Given the description of an element on the screen output the (x, y) to click on. 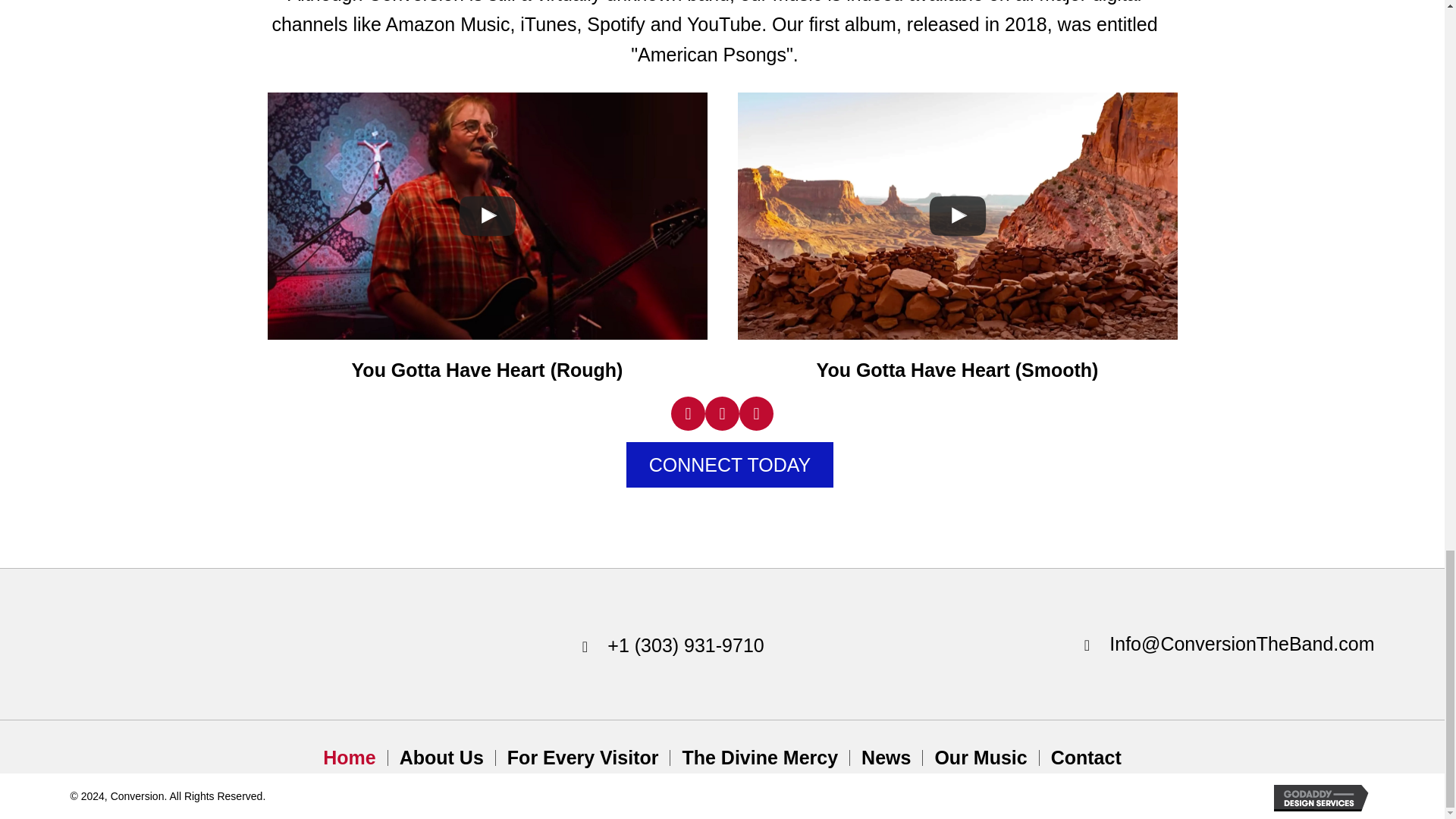
Our Music (980, 757)
Instagram (756, 413)
For Every Visitor (582, 757)
CONNECT TODAY (729, 464)
News (885, 757)
Conversion (126, 644)
The Divine Mercy (758, 757)
YouTube (721, 413)
Home (349, 757)
Facebook (687, 413)
